Given the description of an element on the screen output the (x, y) to click on. 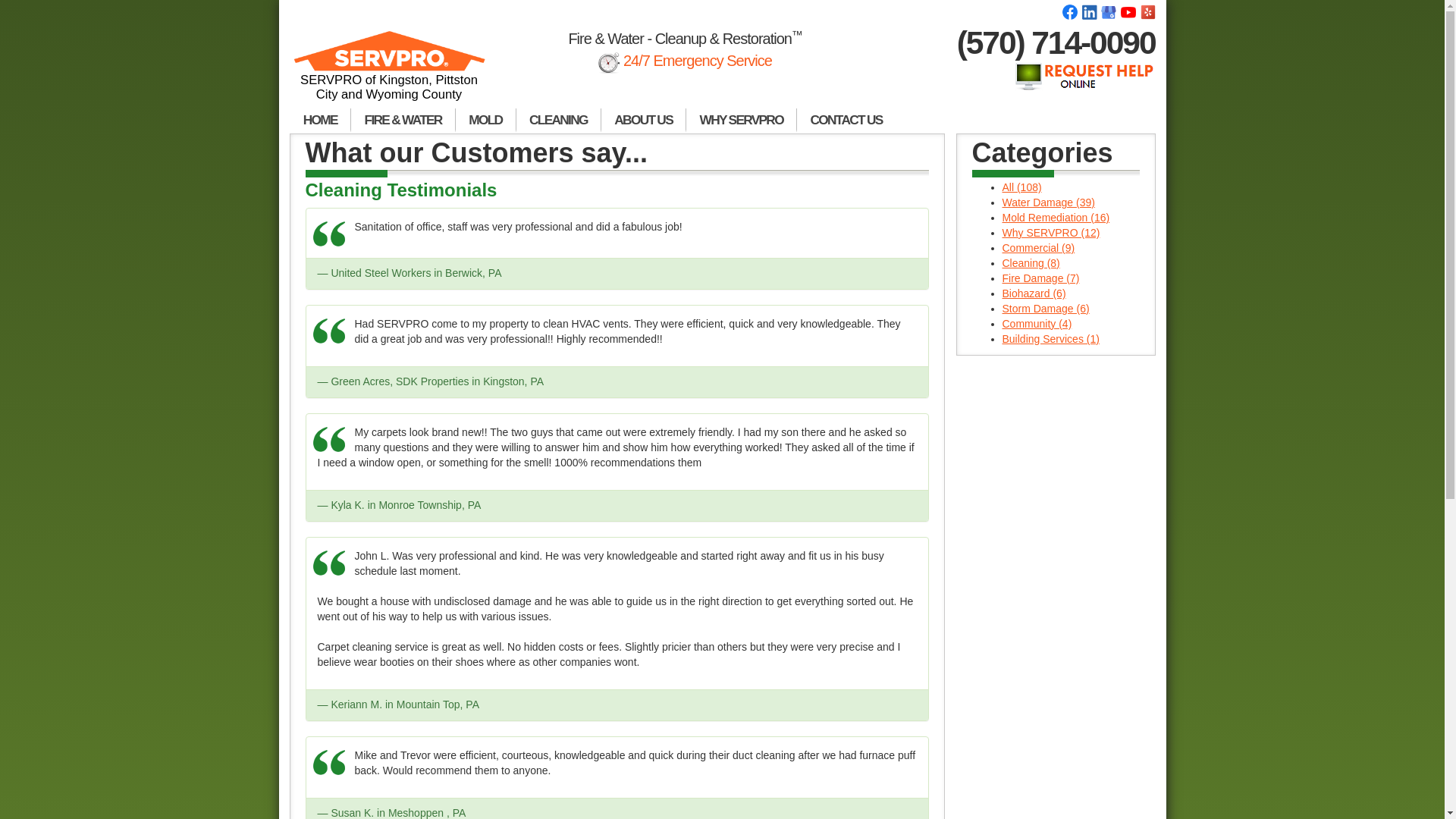
MOLD (485, 120)
ABOUT US (643, 120)
CLEANING (558, 120)
HOME (319, 120)
SERVPRO of Kingston, Pittston City and Wyoming County (389, 72)
